Given the description of an element on the screen output the (x, y) to click on. 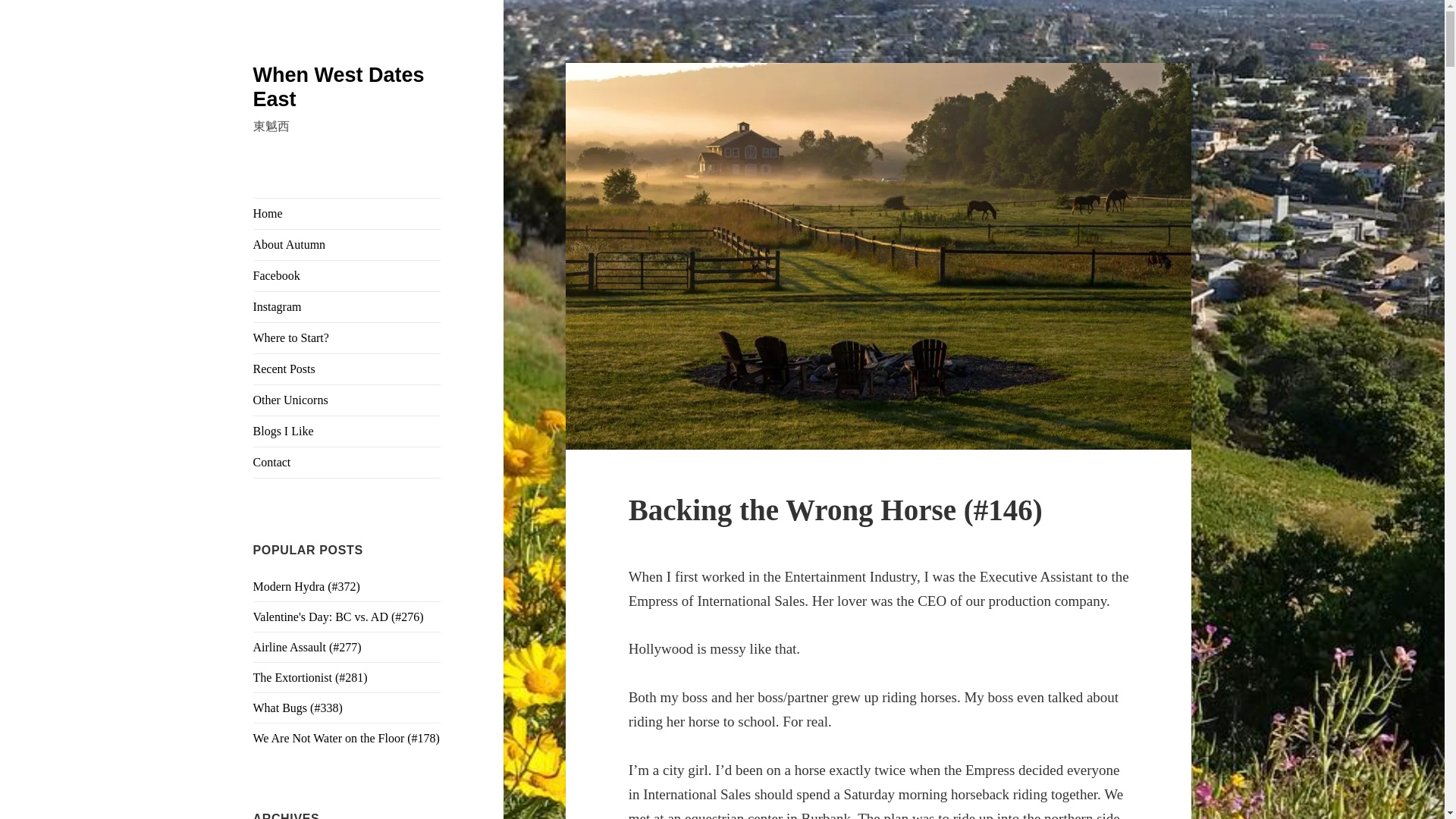
Where to Start? (347, 337)
Other Unicorns (347, 399)
Facebook (347, 276)
Recent Posts (347, 368)
Contact (347, 462)
Blogs I Like (347, 431)
About Autumn (347, 245)
Instagram (347, 306)
Home (347, 214)
When West Dates East (339, 86)
